Given the description of an element on the screen output the (x, y) to click on. 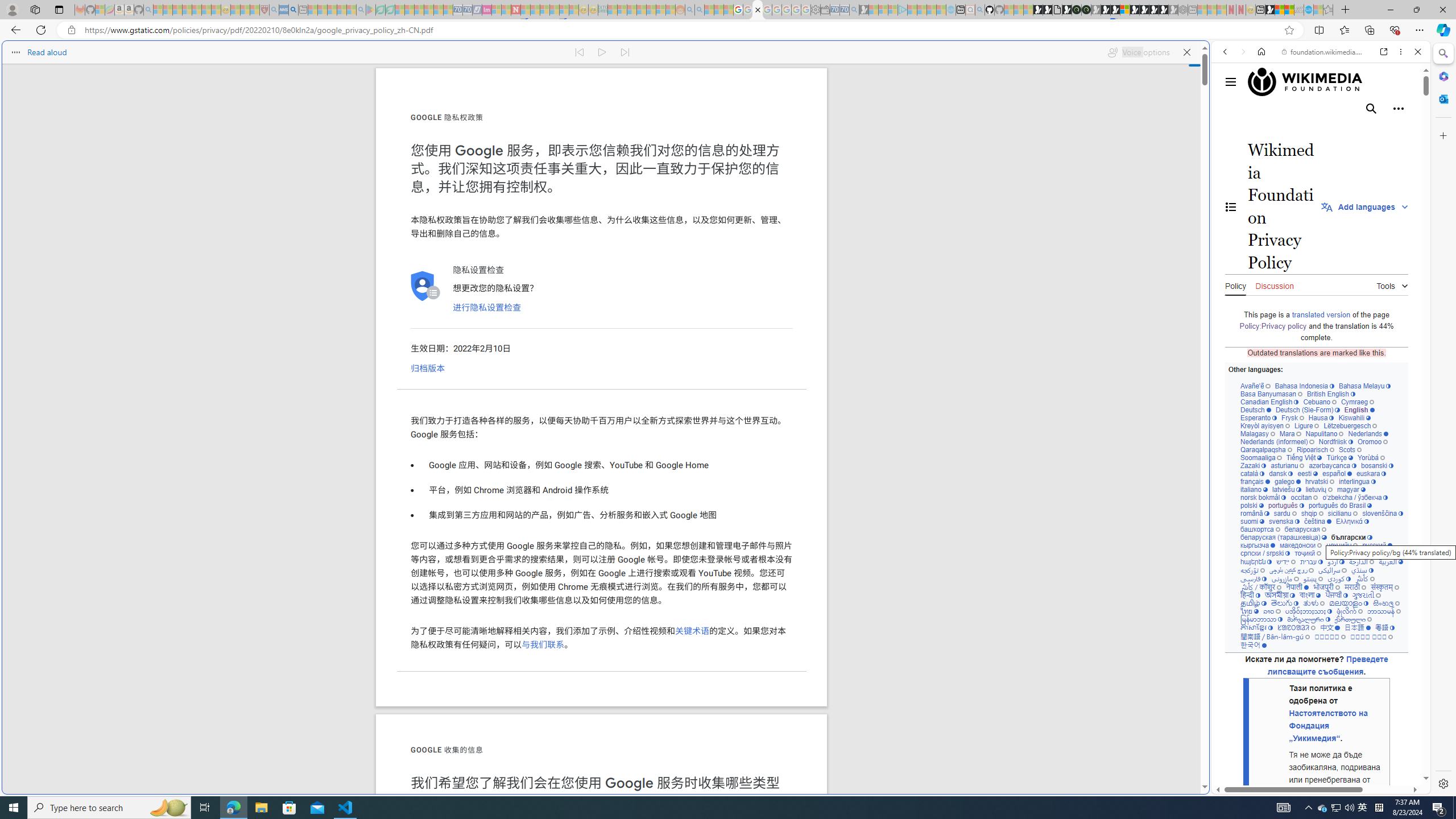
Nederlands (informeel) (1277, 441)
Ligure (1306, 425)
